Given the description of an element on the screen output the (x, y) to click on. 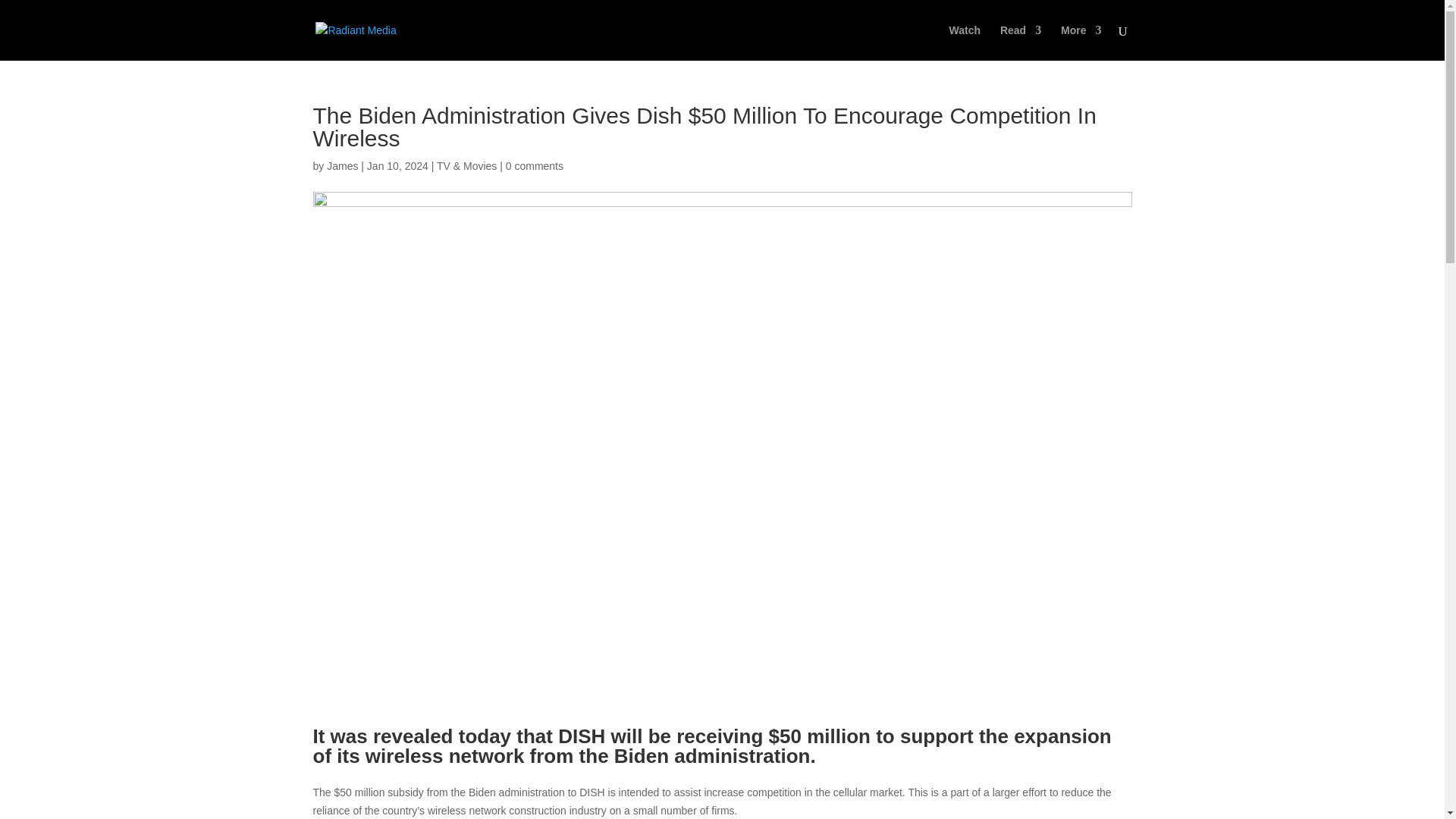
0 comments (534, 165)
Watch (964, 42)
Read (1020, 42)
James (342, 165)
More (1080, 42)
Posts by James (342, 165)
